Given the description of an element on the screen output the (x, y) to click on. 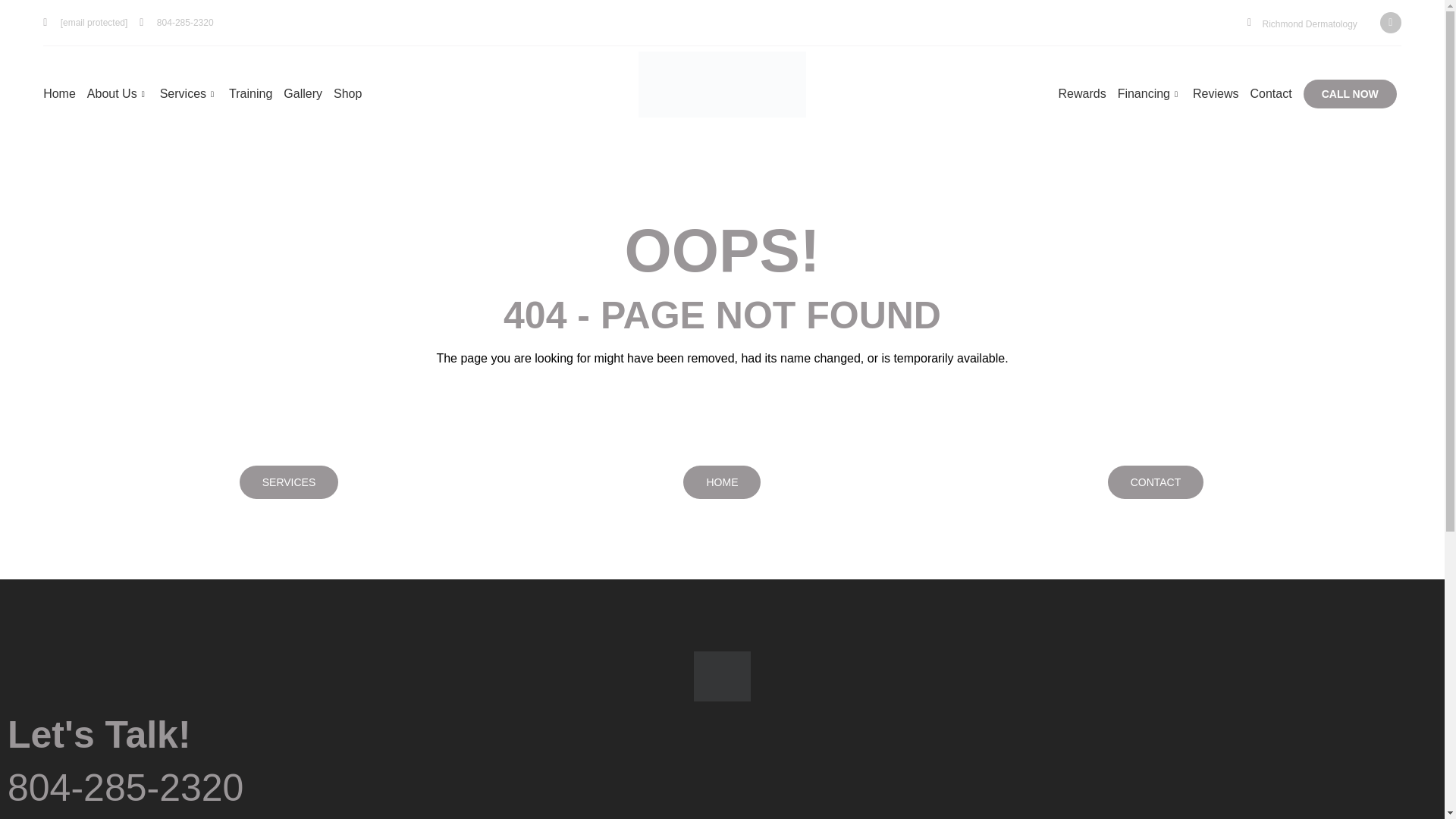
About Us (123, 94)
Home (65, 94)
Richmond Dermatology (1309, 23)
804-285-2320 (175, 22)
Services (194, 94)
